Given the description of an element on the screen output the (x, y) to click on. 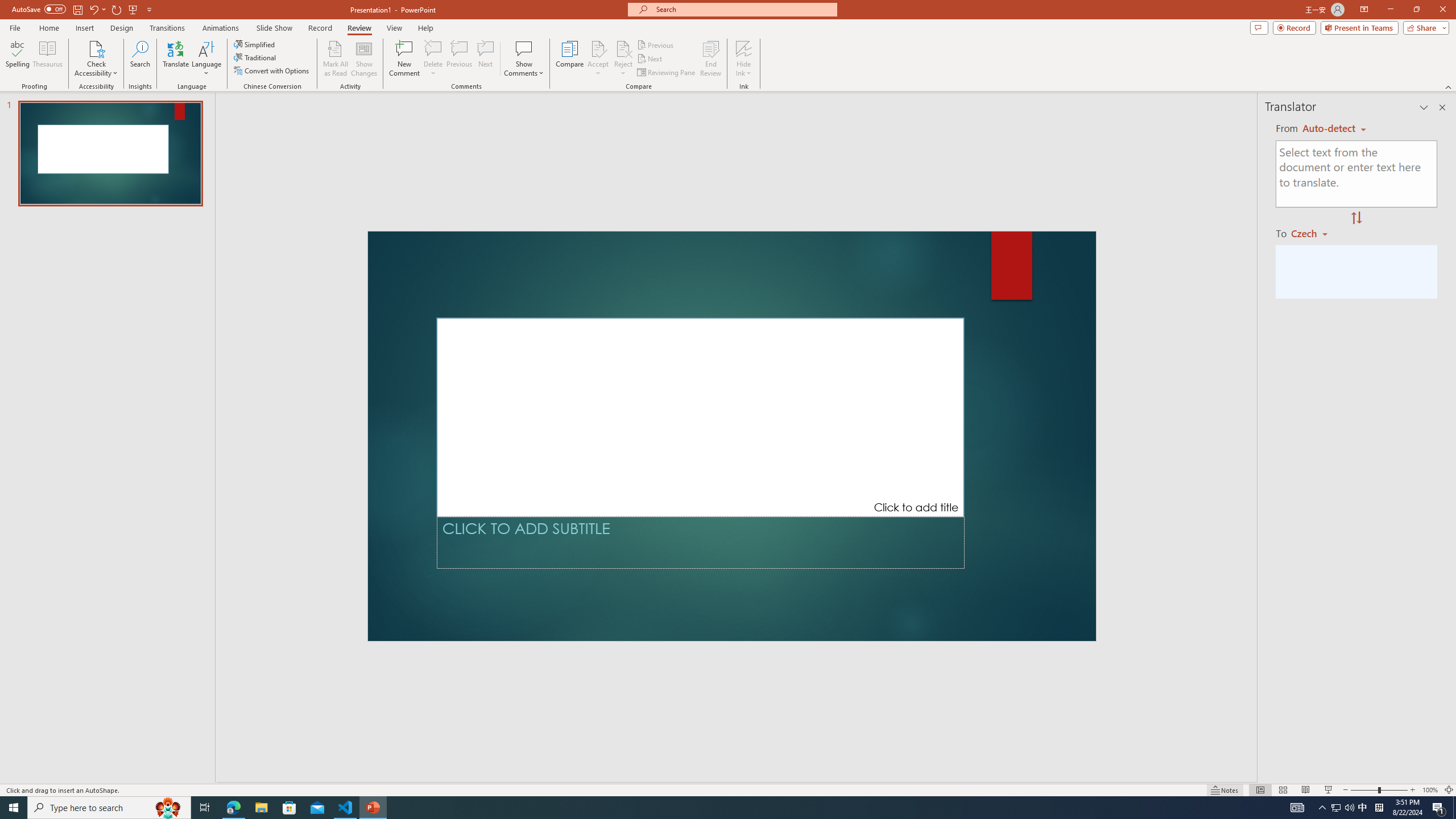
Show Changes (363, 58)
Subtitle TextBox (699, 542)
New Comment (403, 58)
Reject (622, 58)
Reviewing Pane (666, 72)
